Given the description of an element on the screen output the (x, y) to click on. 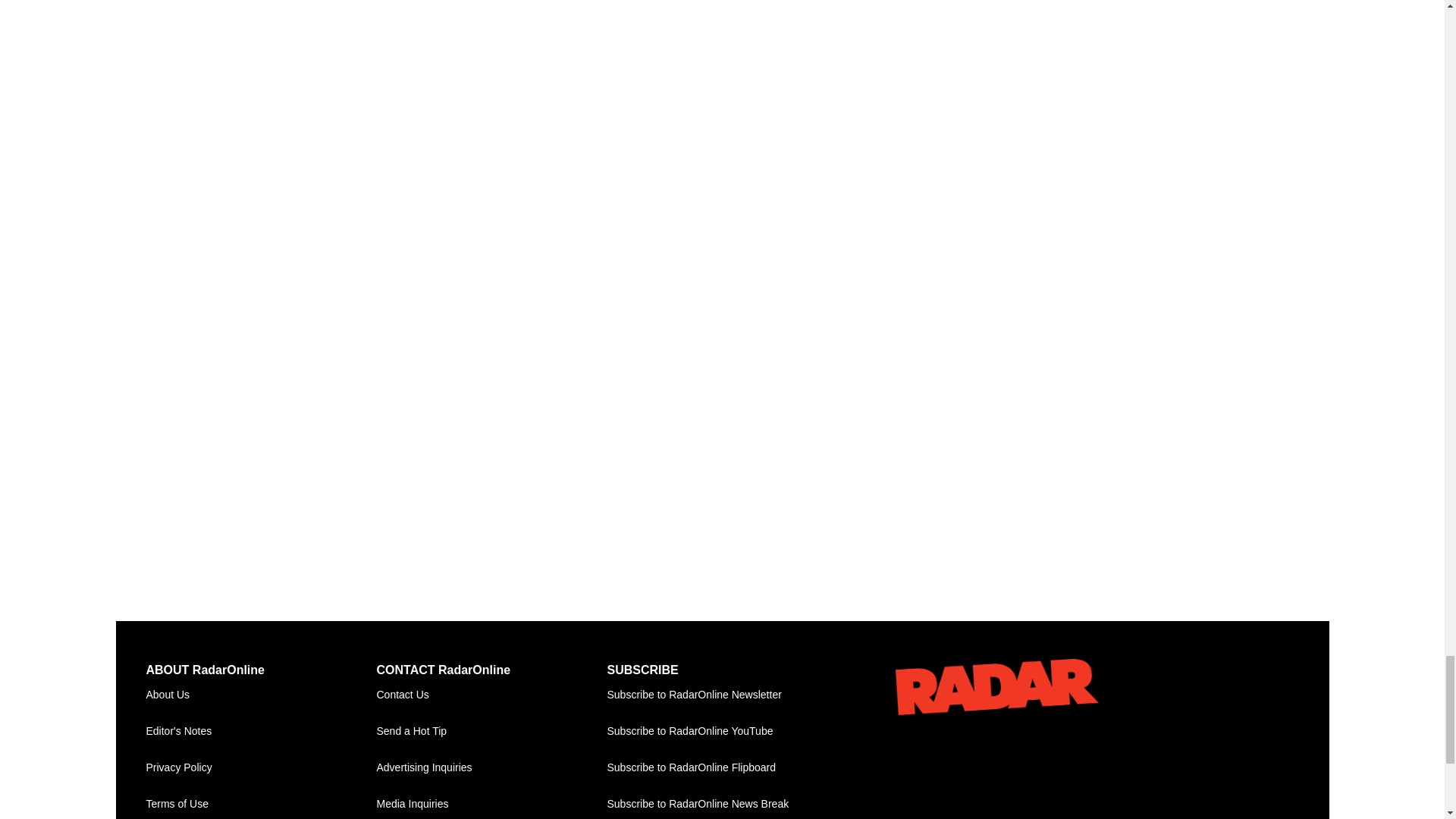
Media Inquiries (491, 802)
About Us (260, 695)
Advertising Inquiries (491, 768)
Contact Us (491, 695)
Send a Hot Tip (491, 731)
Subscribe (722, 695)
Editor's Notes (260, 731)
Privacy Policy (260, 768)
Terms of Use (260, 802)
